Given the description of an element on the screen output the (x, y) to click on. 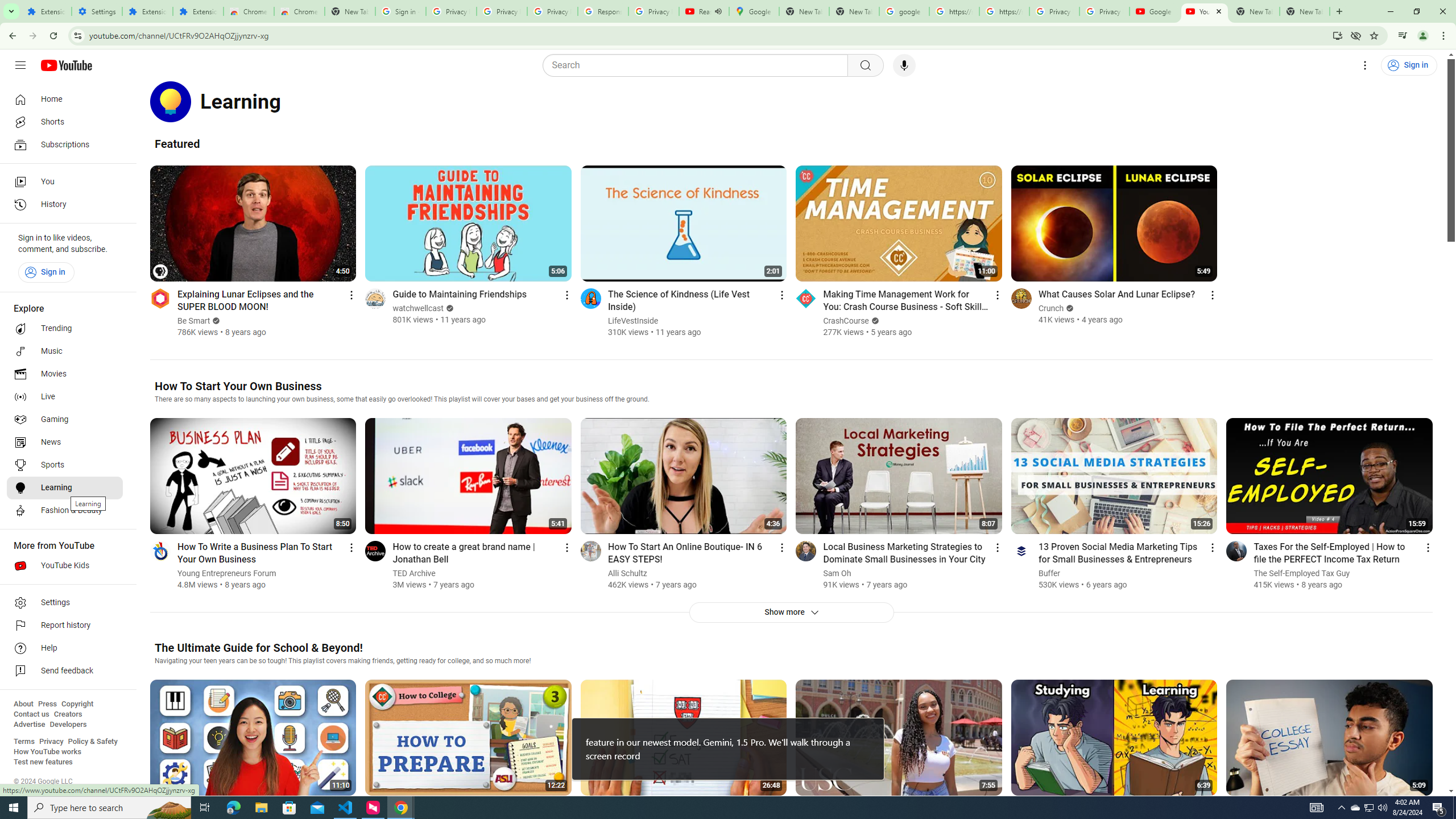
Chrome Web Store - Themes (299, 11)
News (64, 441)
Trending (64, 328)
Gaming (64, 419)
Go to channel (1236, 550)
https://scholar.google.com/ (954, 11)
How YouTube works (47, 751)
Help (64, 648)
Send feedback (64, 671)
Action menu (1427, 547)
